Given the description of an element on the screen output the (x, y) to click on. 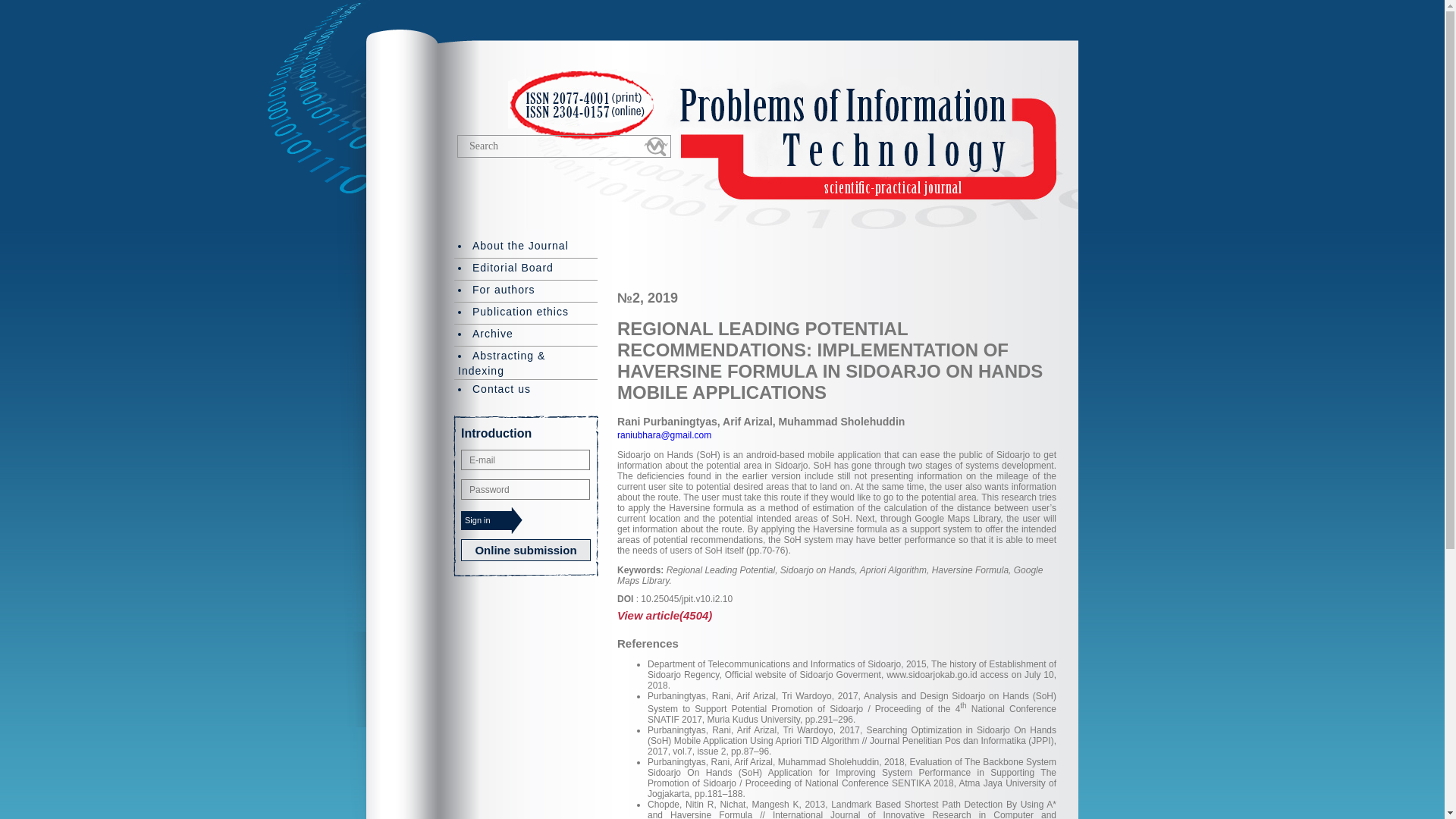
Editorial Board Element type: text (525, 268)
Contact us Element type: text (525, 389)
Publication ethics Element type: text (525, 312)
Sign in Element type: text (491, 520)
View article(4504) Element type: text (836, 614)
Abstracting & Indexing Element type: text (525, 361)
raniubhara@gmail.com Element type: text (664, 434)
Online submission Element type: text (525, 550)
About the Journal Element type: text (525, 246)
Archive Element type: text (525, 334)
For authors Element type: text (525, 290)
